Given the description of an element on the screen output the (x, y) to click on. 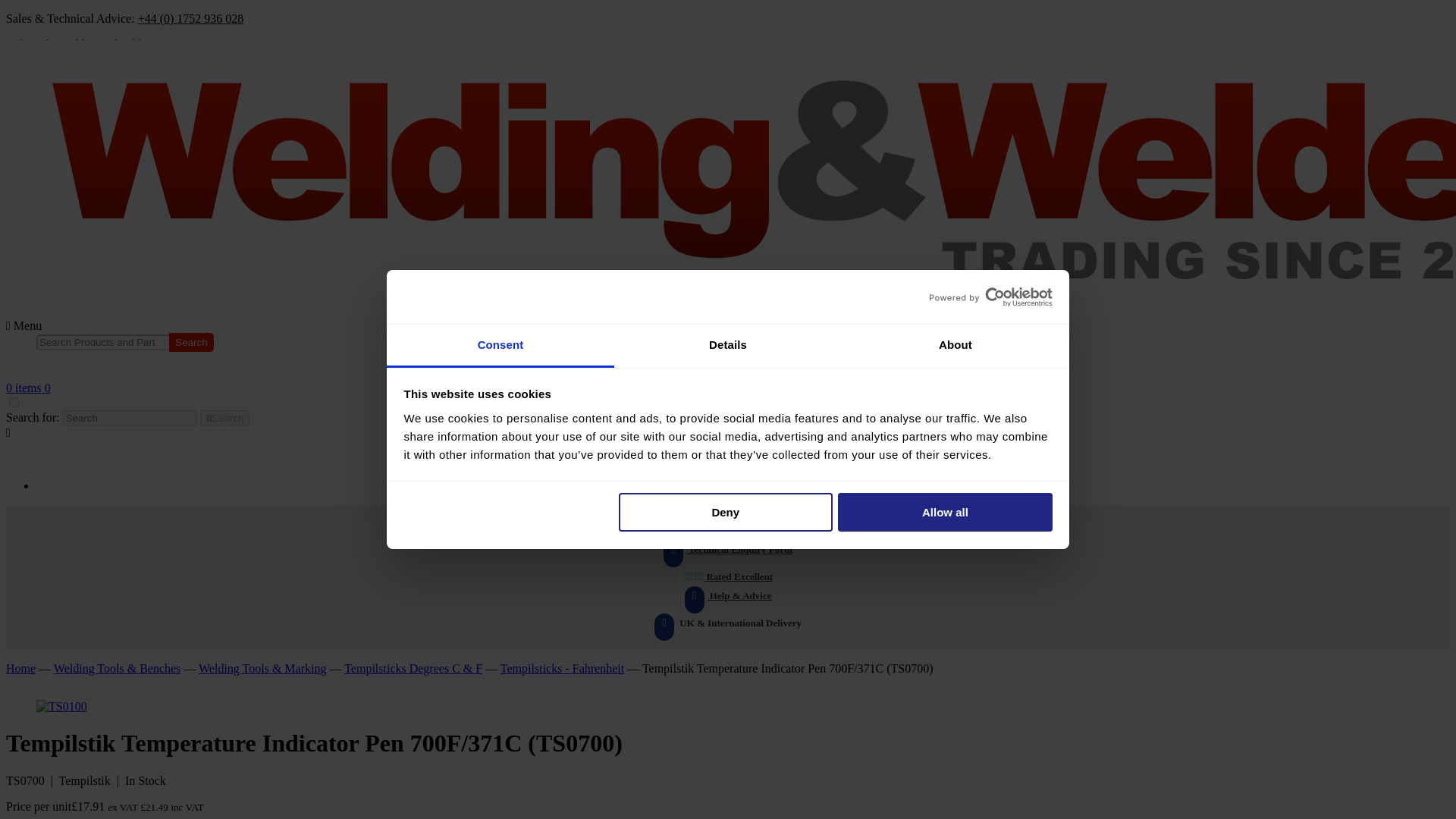
on (13, 402)
Welding Equipment (44, 453)
About (954, 345)
Consent (500, 345)
Customer reviews powered by Trustpilot (727, 366)
Details (727, 345)
